Given the description of an element on the screen output the (x, y) to click on. 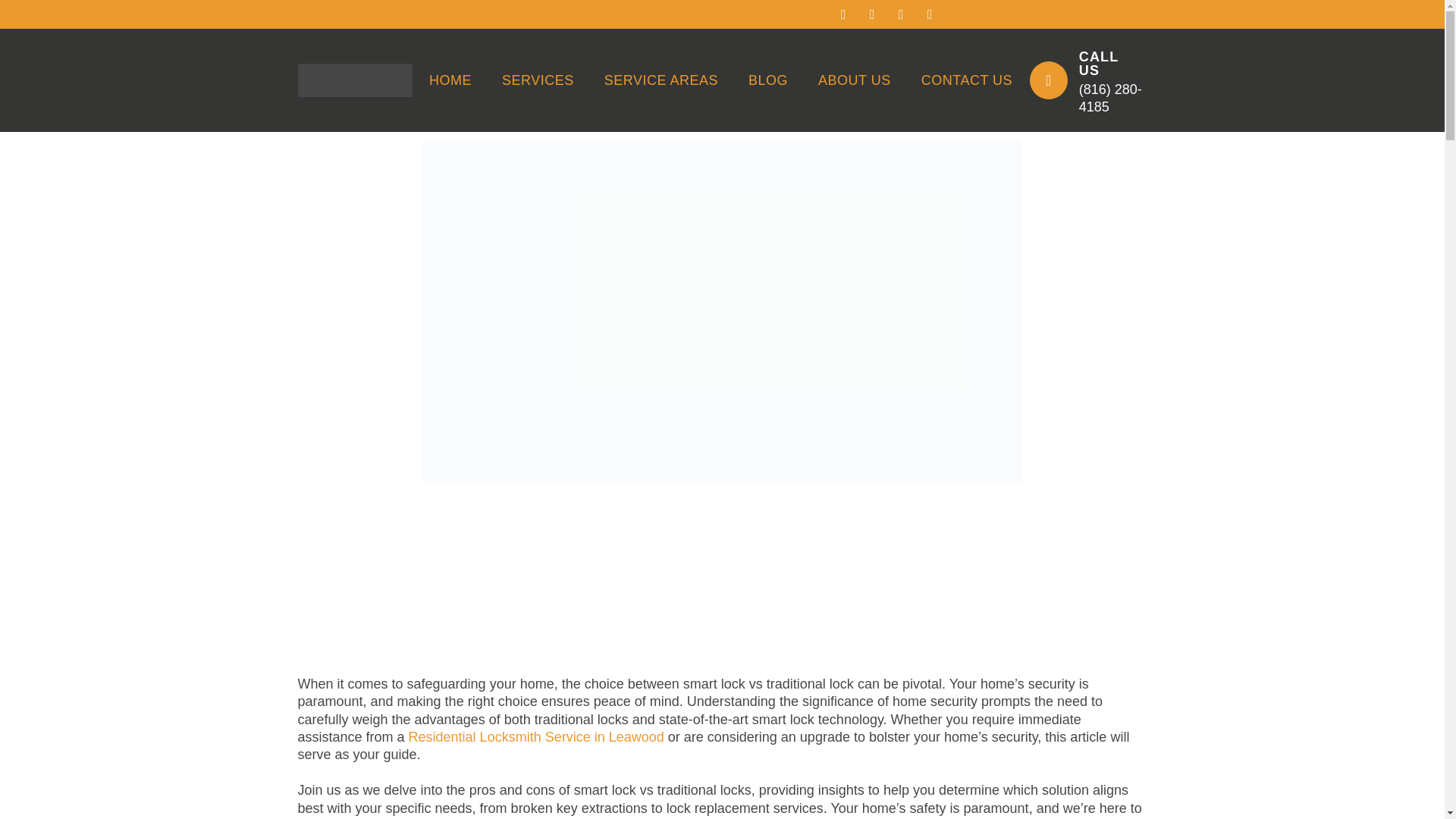
SERVICES (537, 80)
HOME (450, 80)
SERVICE AREAS (660, 80)
